Given the description of an element on the screen output the (x, y) to click on. 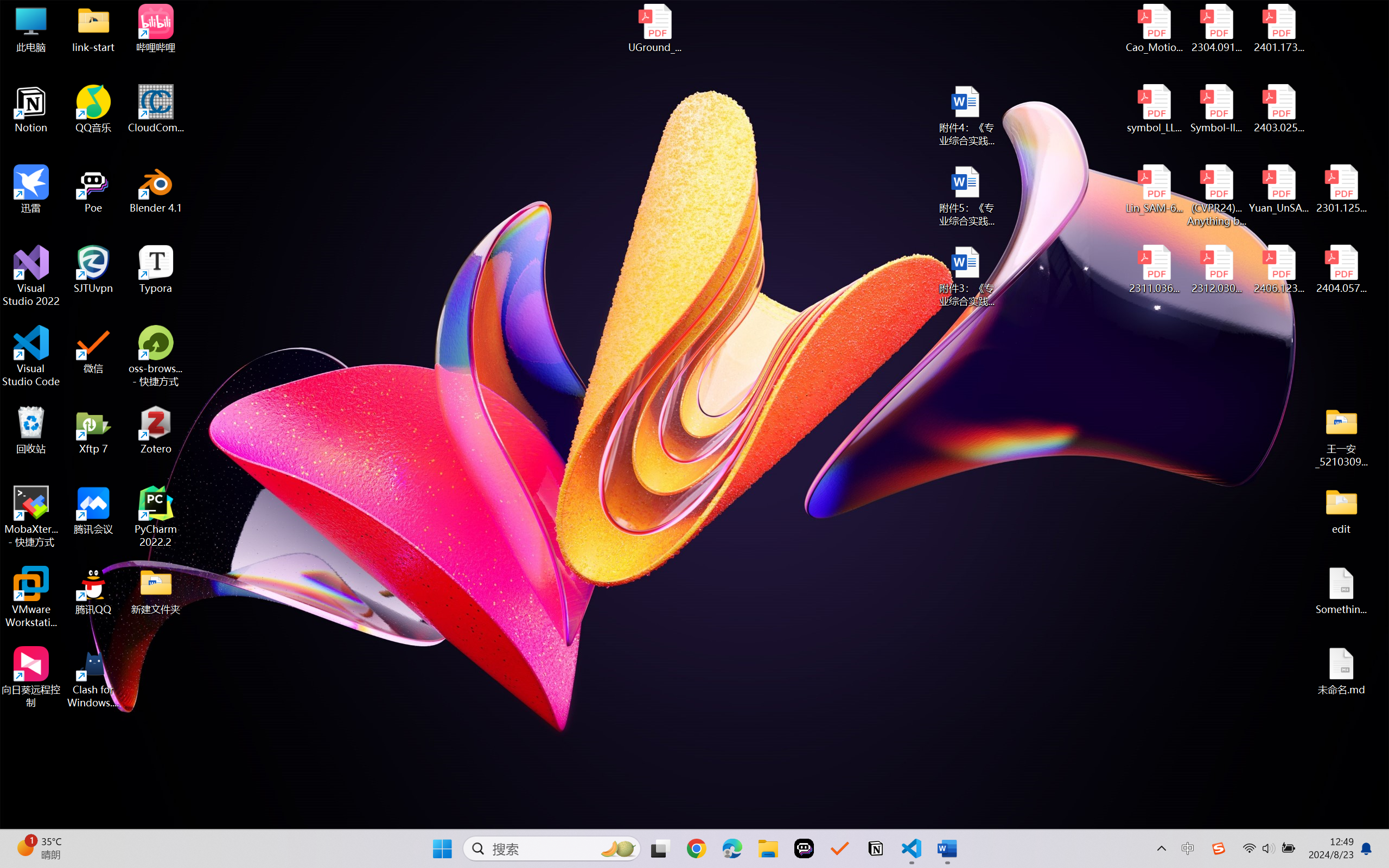
2406.12373v2.pdf (1278, 269)
Blender 4.1 (156, 189)
edit (1340, 510)
Microsoft Edge (731, 848)
UGround_paper.pdf (654, 28)
